Given the description of an element on the screen output the (x, y) to click on. 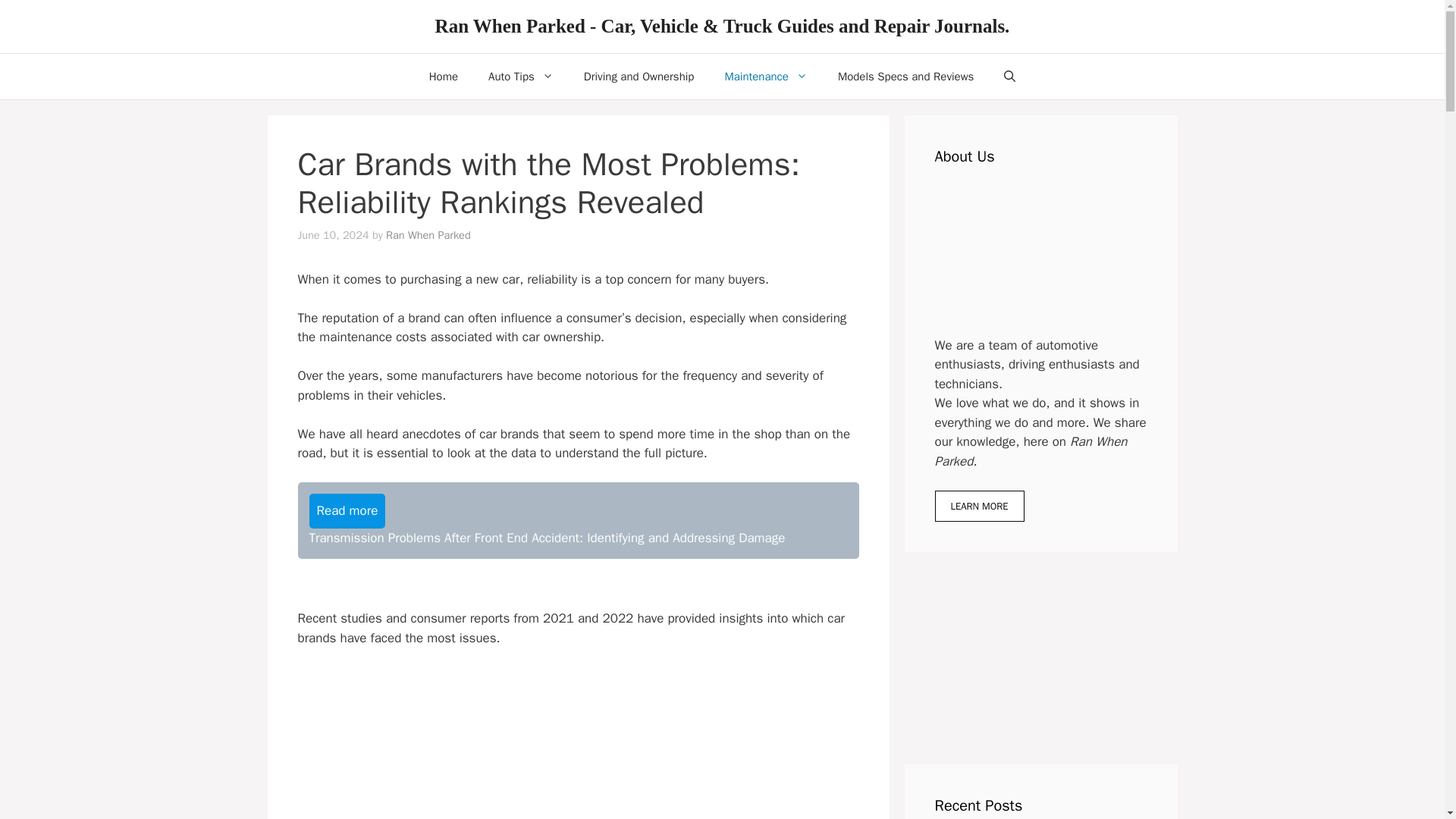
View all posts by Ran When Parked (427, 234)
Ran When Parked (427, 234)
Driving and Ownership (639, 76)
Models Specs and Reviews (905, 76)
Auto Tips (521, 76)
Maintenance (765, 76)
Home (443, 76)
